Given the description of an element on the screen output the (x, y) to click on. 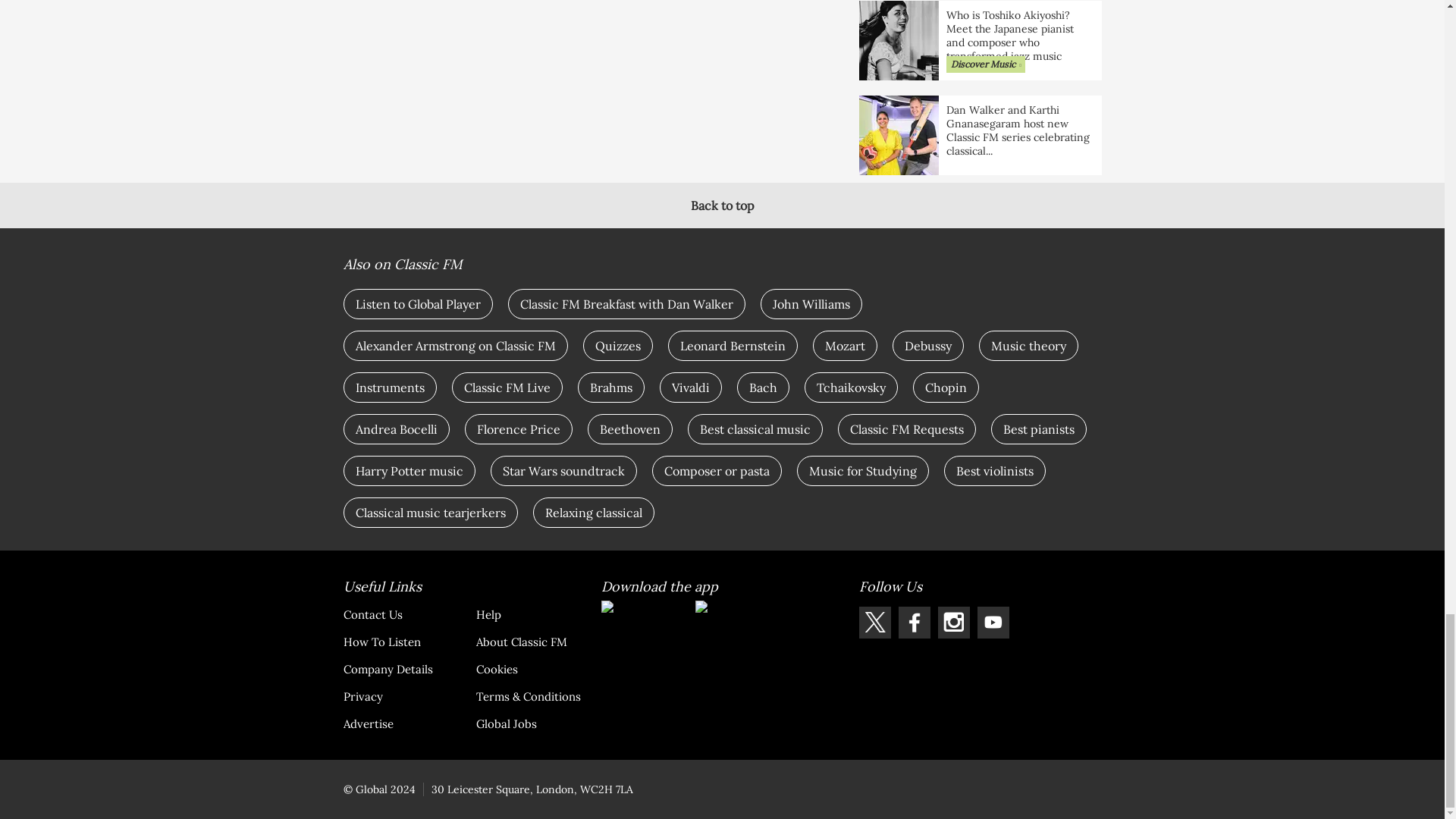
Follow Classic FM on Instagram (953, 622)
Follow Classic FM on Facebook (914, 622)
Follow Classic FM on X (874, 622)
Back to top (722, 205)
Follow Classic FM on Youtube (992, 622)
